Given the description of an element on the screen output the (x, y) to click on. 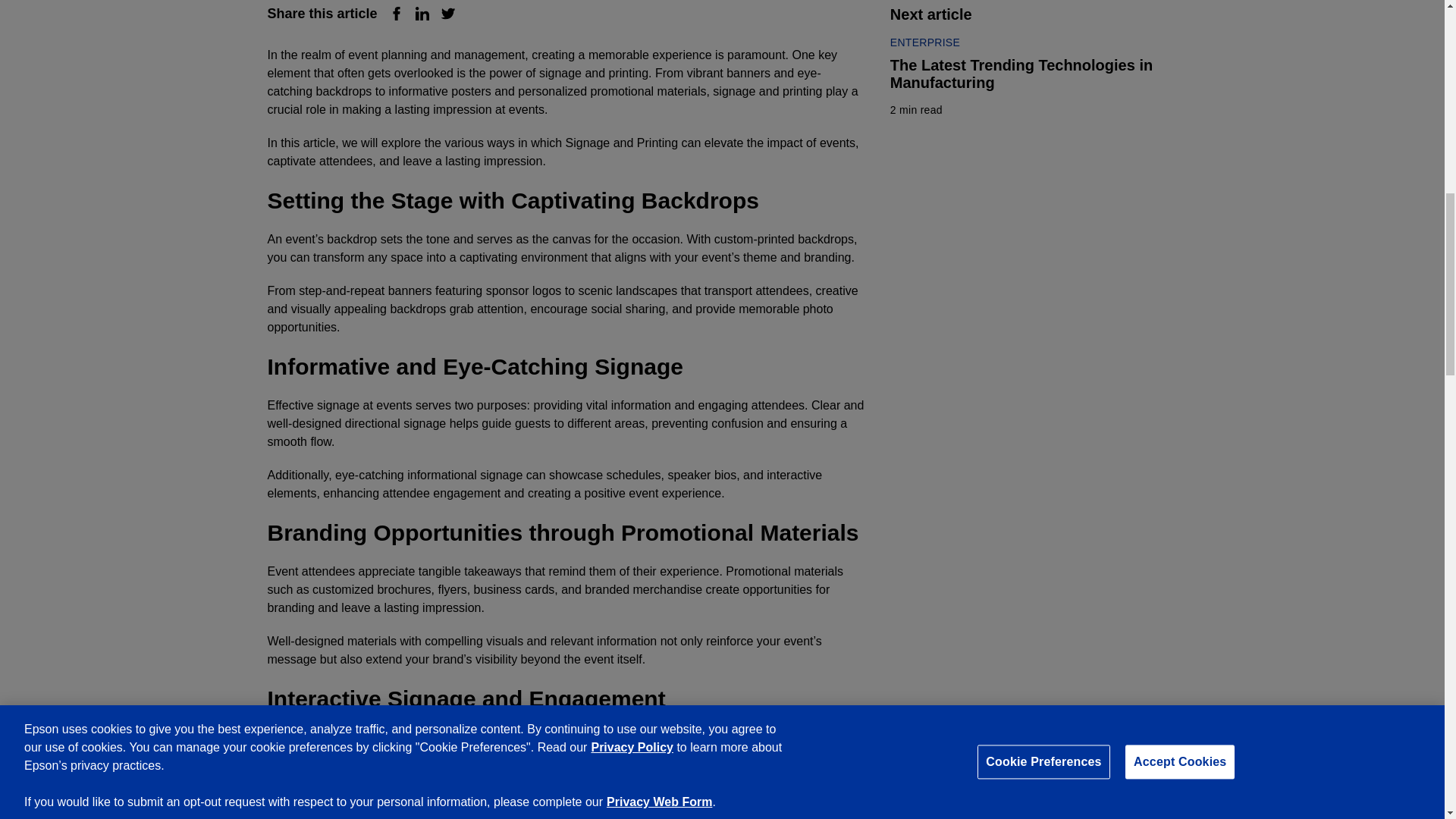
Share on Facebook (396, 13)
Tweet This Post (447, 13)
